Given the description of an element on the screen output the (x, y) to click on. 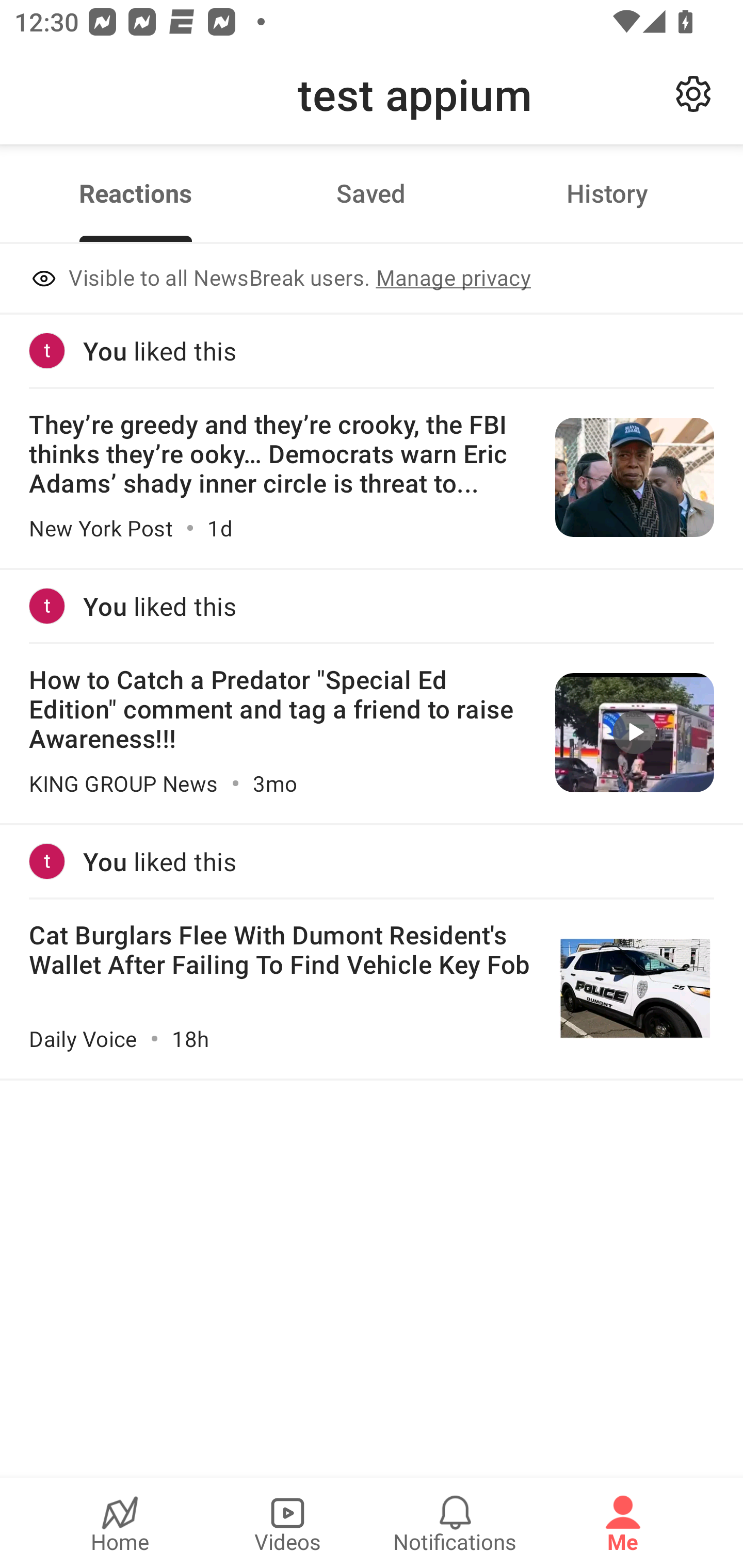
Saved (370, 192)
History (606, 192)
Visible to all NewsBreak users.  Manage privacy (371, 279)
Home (119, 1522)
Videos (287, 1522)
Notifications (455, 1522)
